Given the description of an element on the screen output the (x, y) to click on. 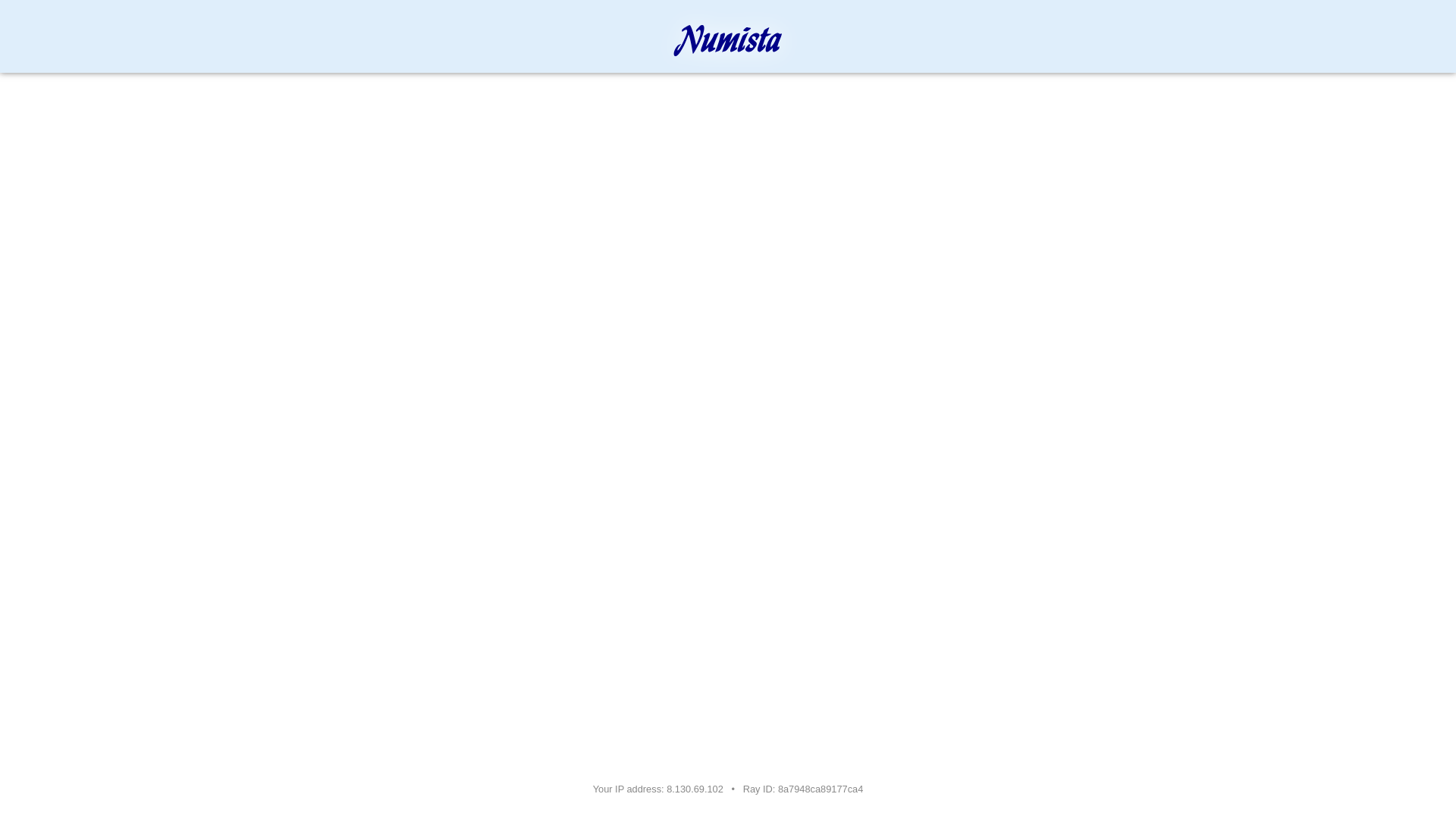
Numista (727, 40)
